Given the description of an element on the screen output the (x, y) to click on. 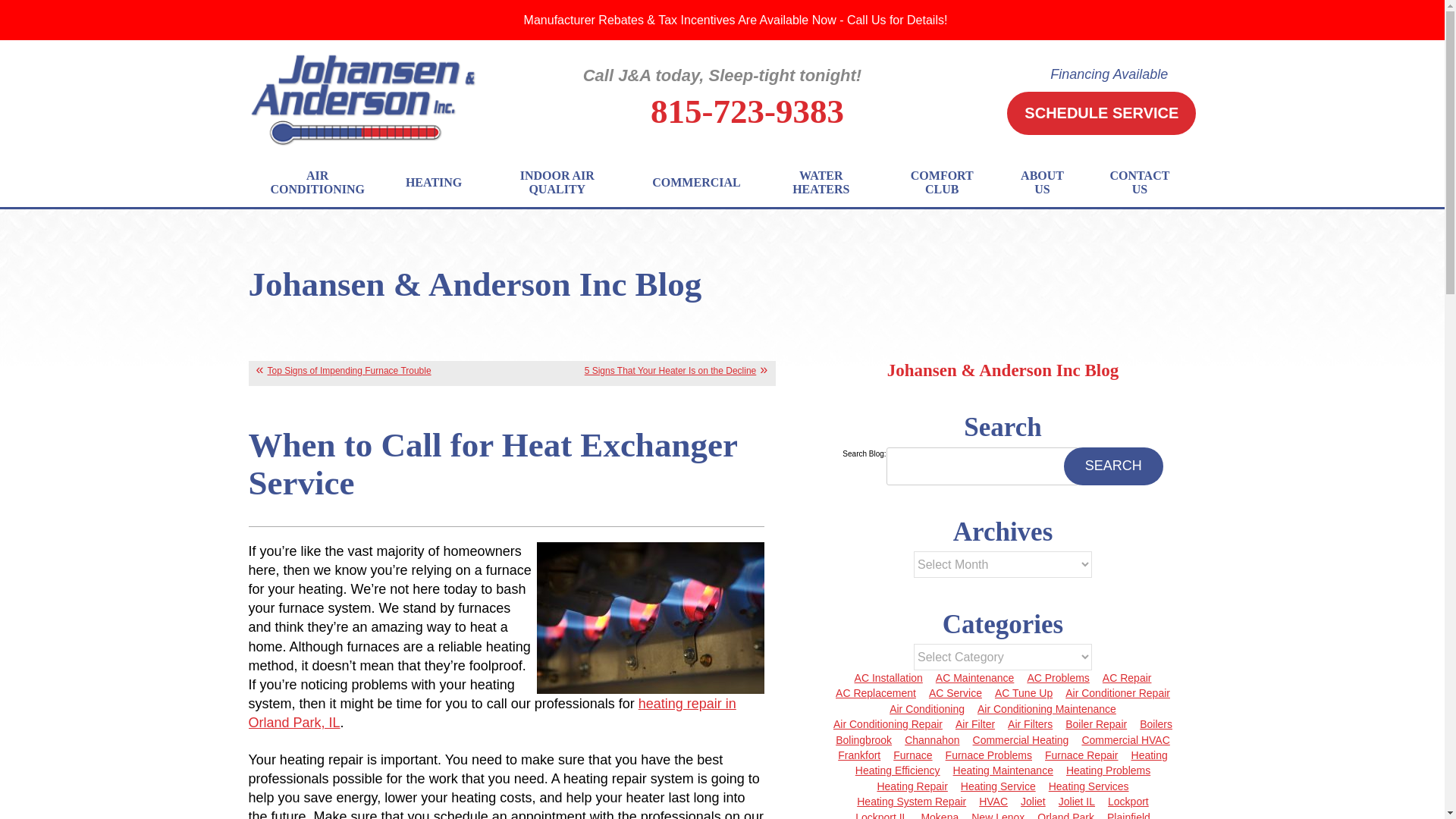
HEATING (437, 182)
INDOOR AIR QUALITY (560, 182)
815-723-9383 (747, 111)
Financing Available (1108, 73)
AIR CONDITIONING (321, 182)
SCHEDULE SERVICE (1101, 113)
